Given the description of an element on the screen output the (x, y) to click on. 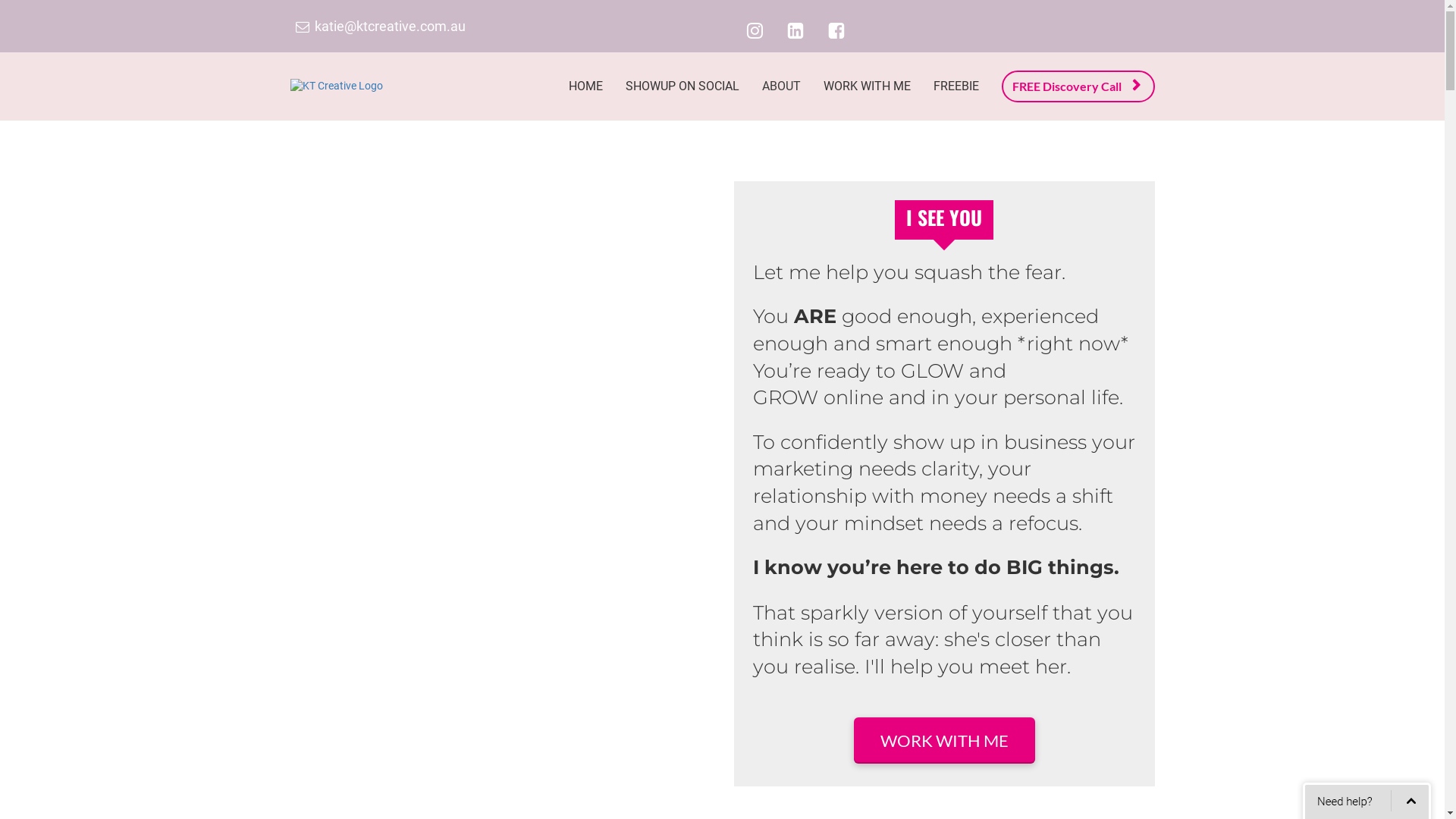
ABOUT Element type: text (781, 86)
FREEBIE Element type: text (956, 86)
SHOWUP ON SOCIAL Element type: text (682, 86)
HOME Element type: text (584, 86)
FREE Discovery Call Element type: text (1077, 86)
WORK WITH ME Element type: text (866, 86)
WORK WITH ME Element type: text (944, 740)
